Given the description of an element on the screen output the (x, y) to click on. 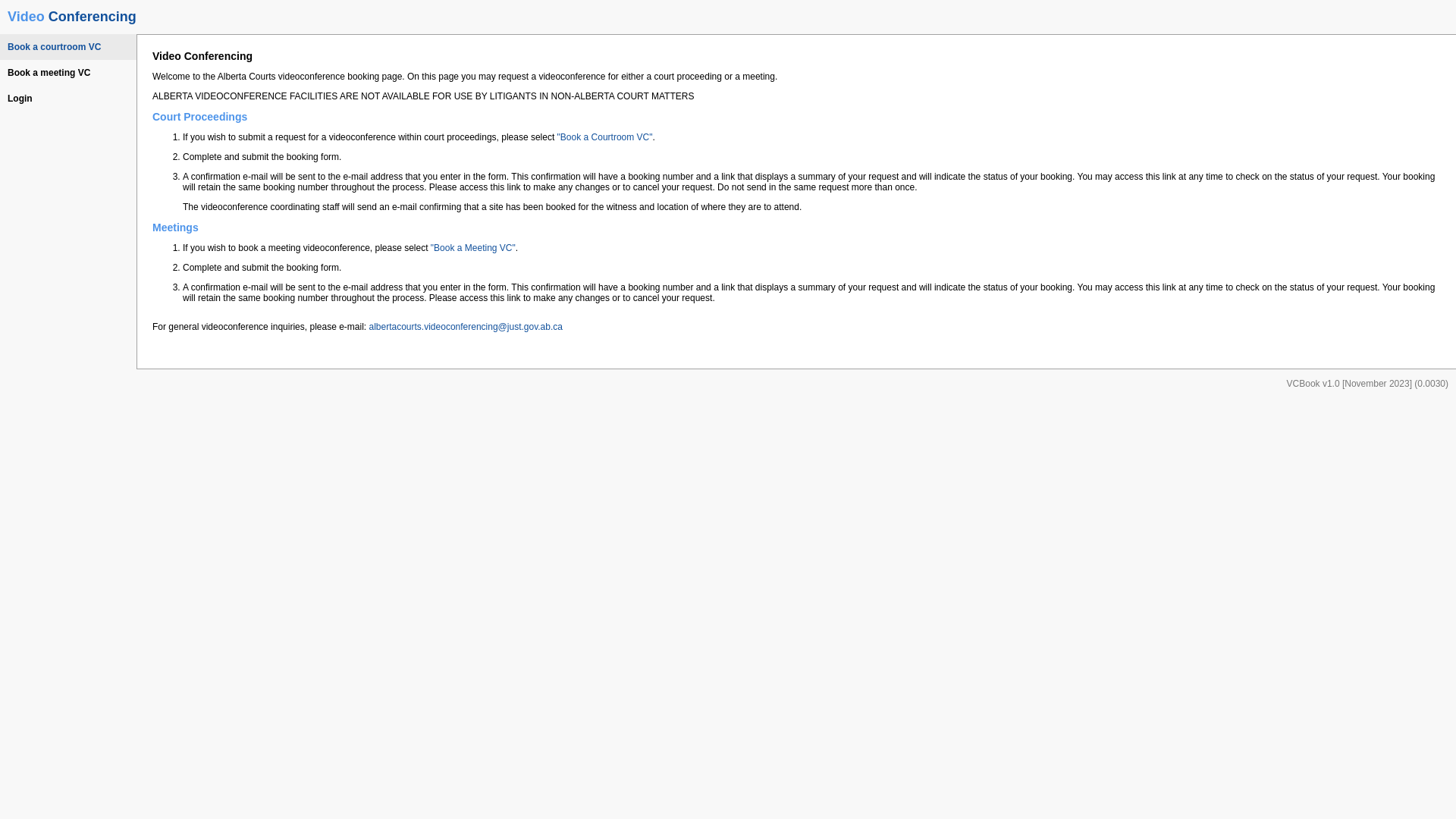
Video Conferencing Element type: text (71, 16)
Login Element type: text (68, 98)
albertacourts.videoconferencing@just.gov.ab.ca Element type: text (464, 326)
Book a courtroom VC Element type: text (68, 46)
"Book a Meeting VC" Element type: text (472, 247)
"Book a Courtroom VC" Element type: text (604, 136)
Book a meeting VC Element type: text (68, 72)
